Given the description of an element on the screen output the (x, y) to click on. 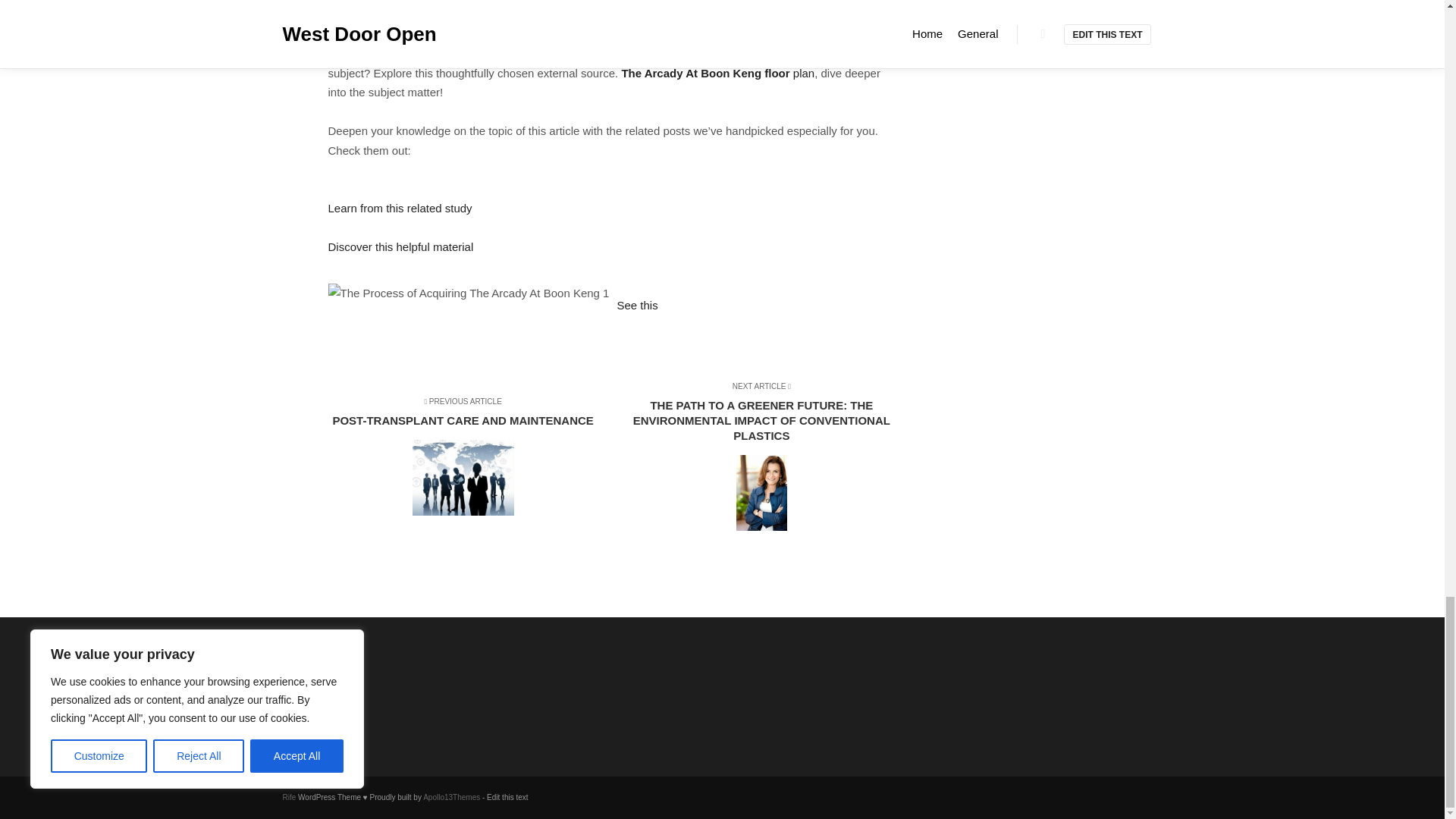
Discover this helpful material (400, 246)
About (360, 683)
See this (636, 305)
The Arcady At Boon Keng floor plan (469, 457)
Learn from this related study (717, 72)
